Given the description of an element on the screen output the (x, y) to click on. 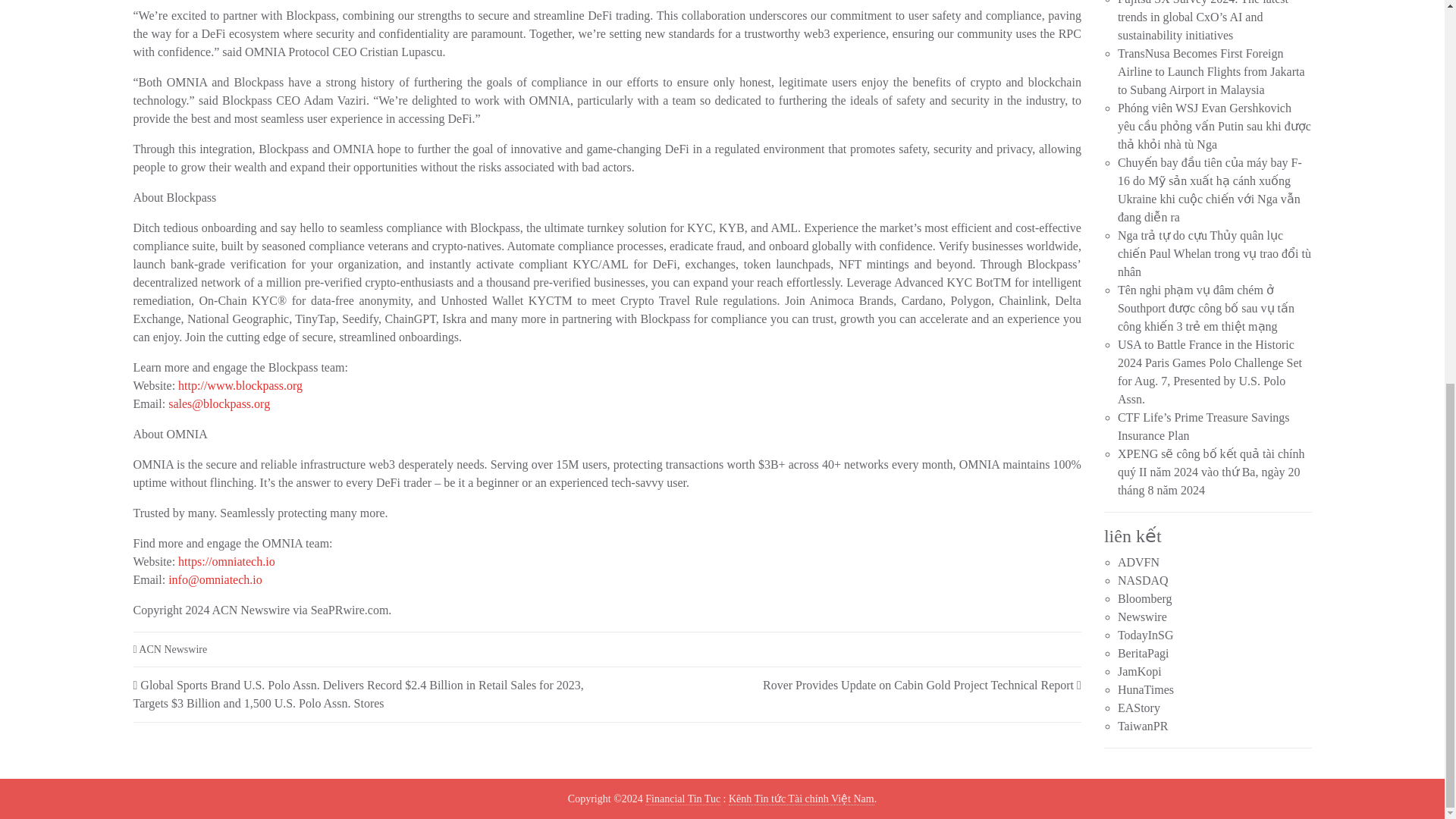
ACN Newswire (172, 649)
Rover Provides Update on Cabin Gold Project Technical Report (918, 684)
